Given the description of an element on the screen output the (x, y) to click on. 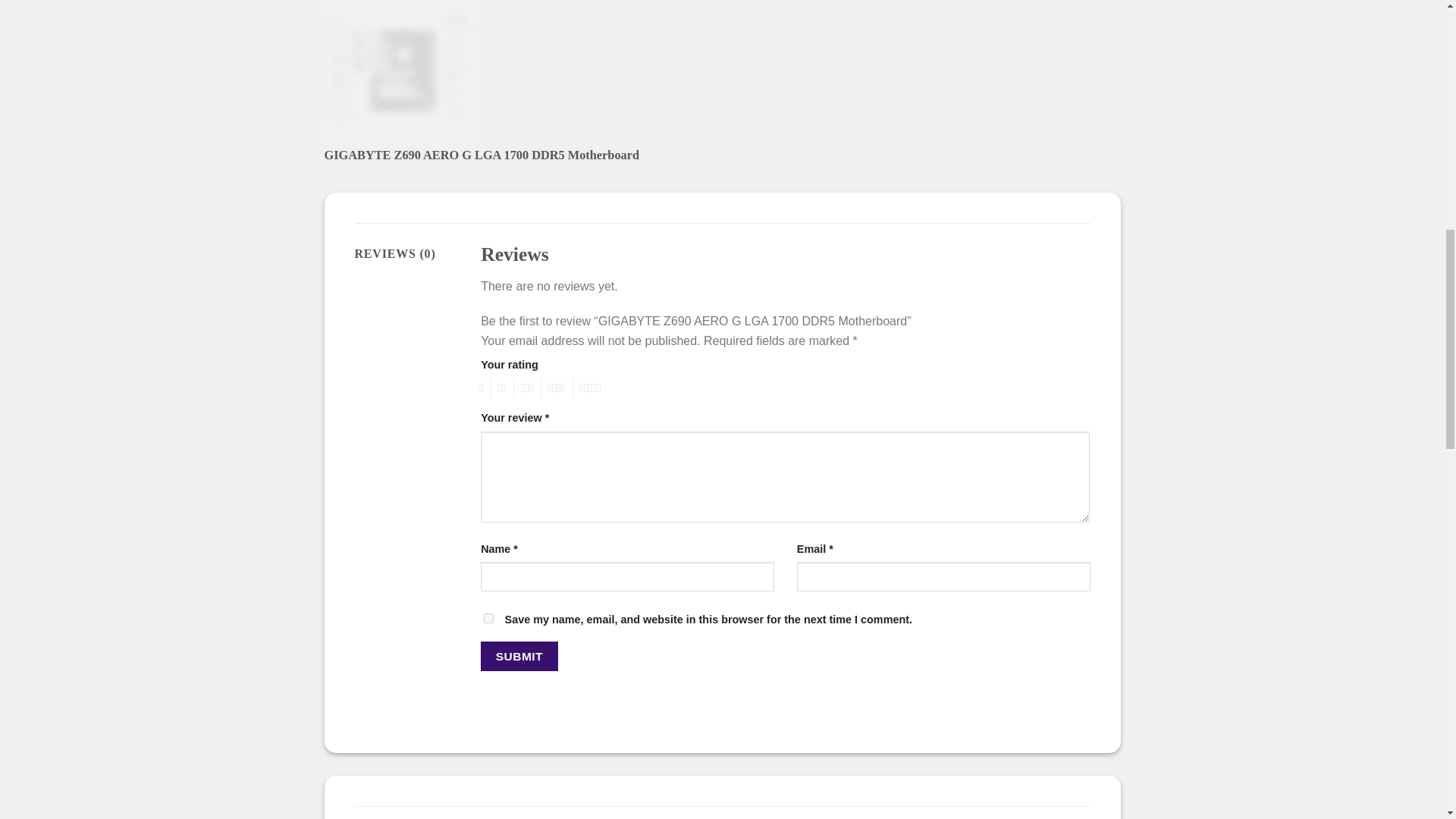
yes (488, 618)
Submit (518, 655)
